Given the description of an element on the screen output the (x, y) to click on. 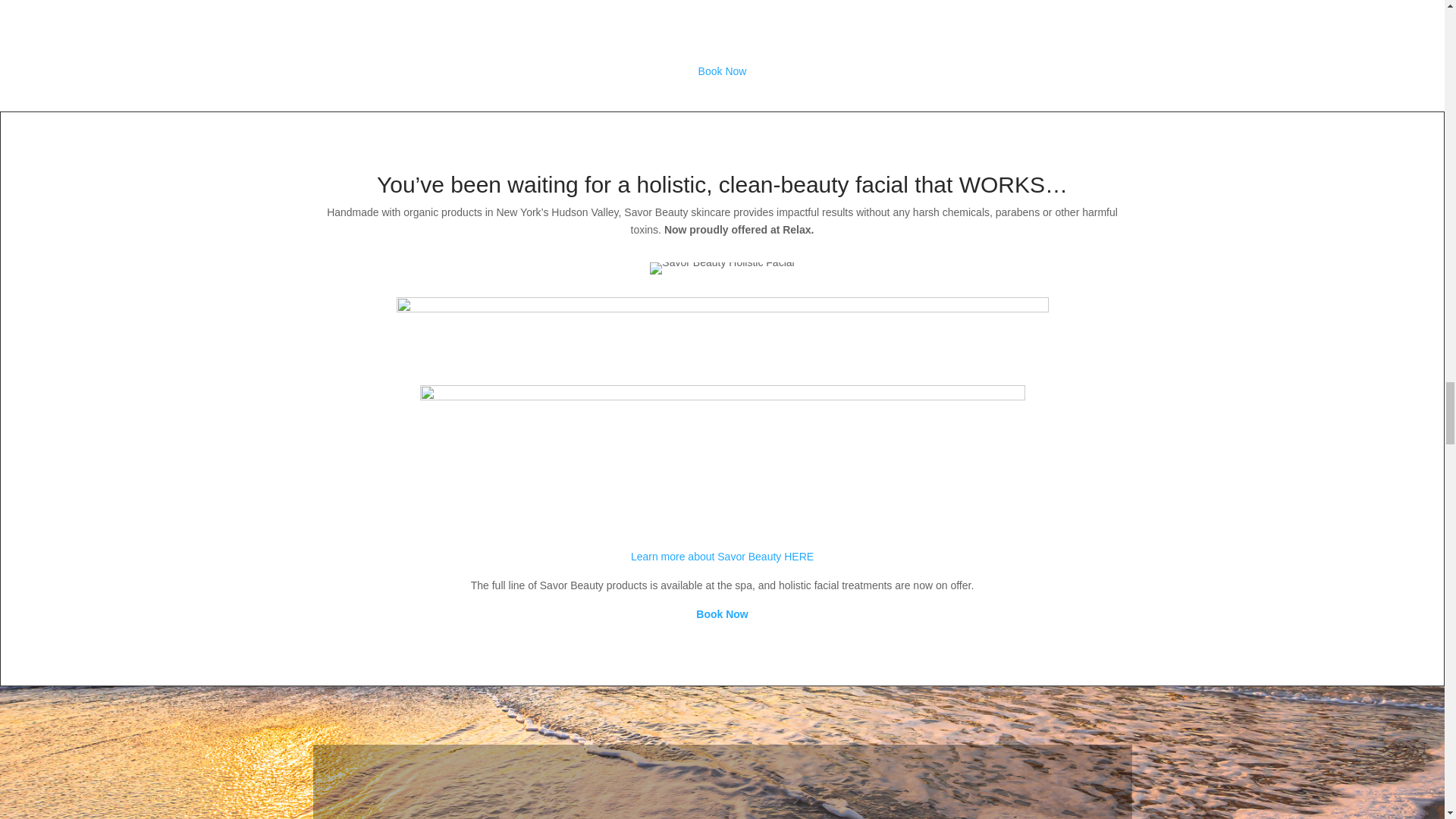
Book Now (721, 613)
Savor Beauty Organic Facials (721, 268)
cleanbeauty (722, 445)
Learn more about Savor Beauty HERE (721, 556)
featuredin (722, 330)
Book Now (722, 70)
